Given the description of an element on the screen output the (x, y) to click on. 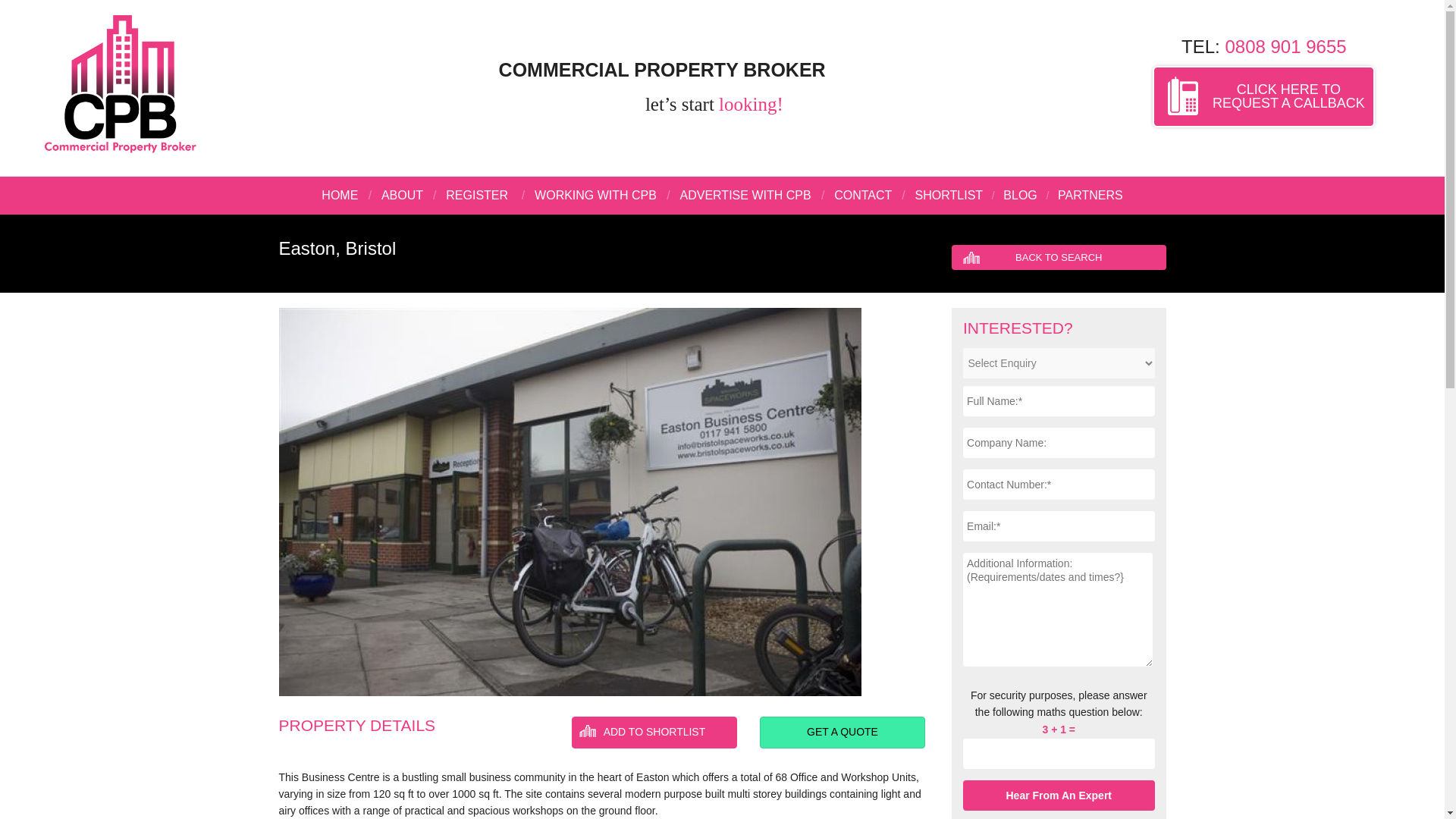
Hear From An Expert (1058, 795)
Hear From An Expert (1058, 795)
GET A QUOTE (1263, 96)
SHORTLIST (842, 732)
Submit (949, 195)
BACK TO SEARCH (1058, 795)
PARTNERS (1059, 257)
BLOG (1090, 195)
ADD TO SHORTLIST (1019, 195)
